Given the description of an element on the screen output the (x, y) to click on. 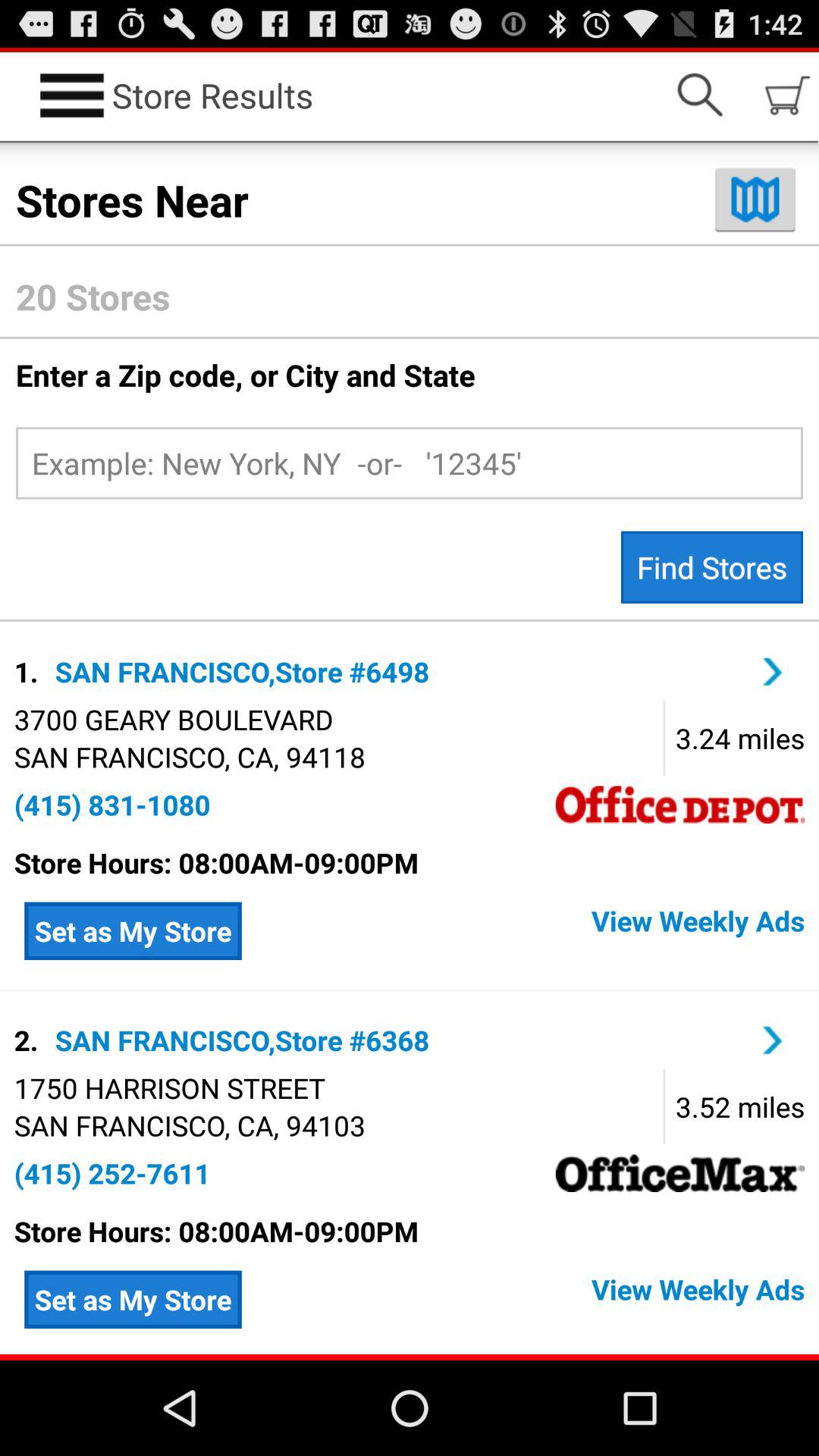
next (772, 1040)
